Given the description of an element on the screen output the (x, y) to click on. 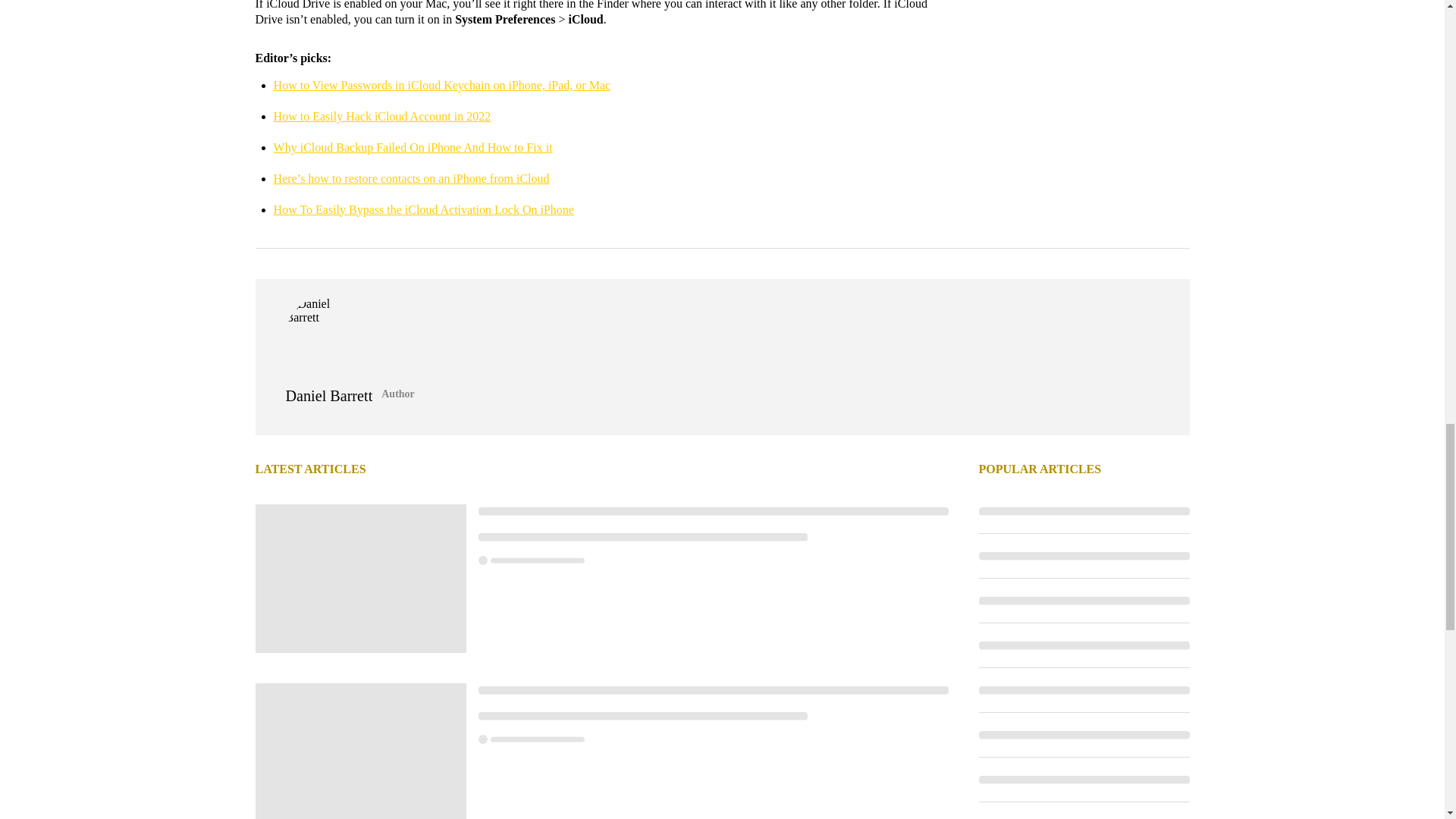
How to Easily Hack iCloud Account in 2022 (382, 115)
Why iCloud Backup Failed On iPhone And How to Fix it (413, 146)
How To Easily Bypass the iCloud Activation Lock On iPhone (423, 209)
